Given the description of an element on the screen output the (x, y) to click on. 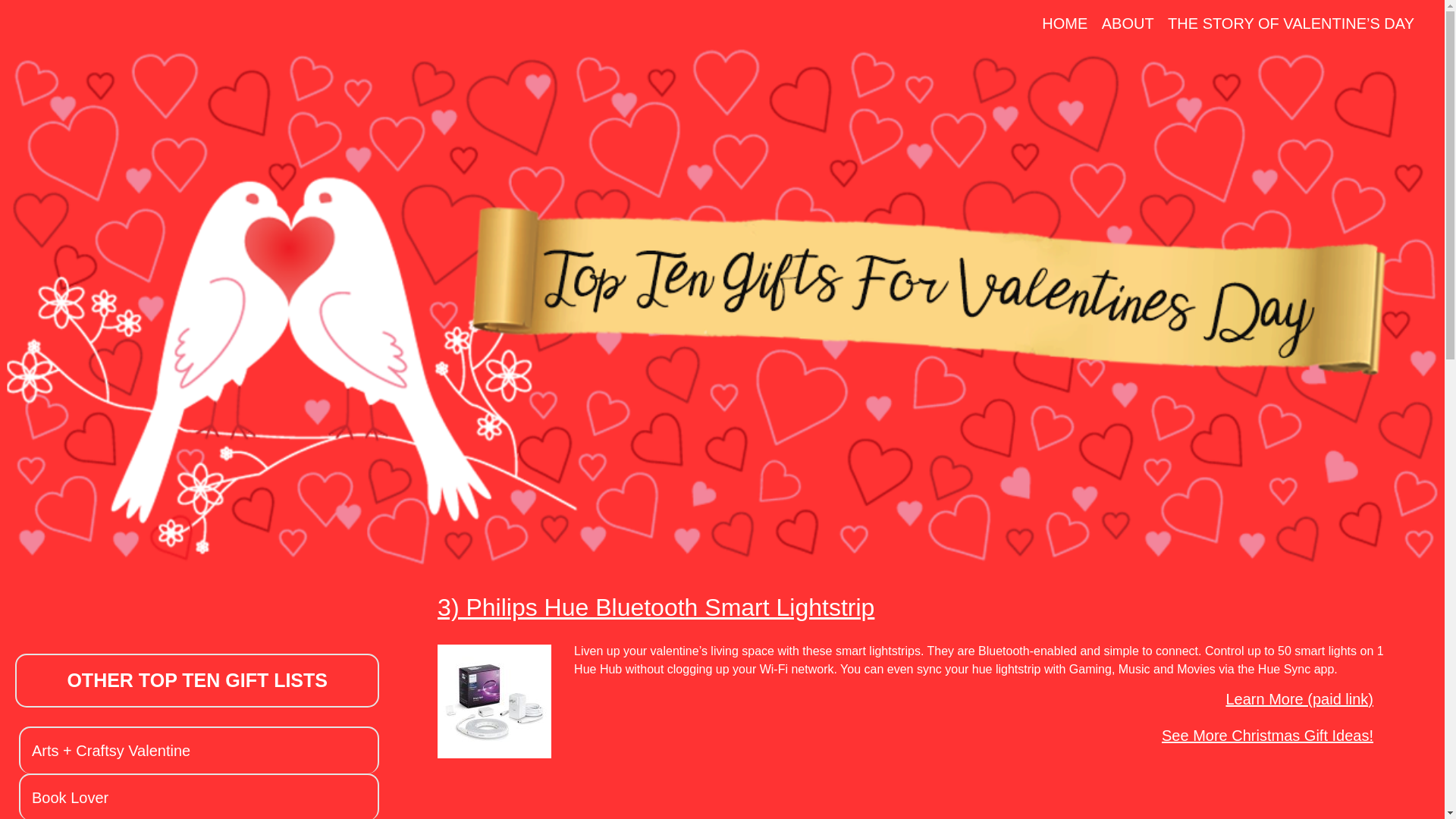
See More Christmas Gift Ideas! (1295, 734)
HOME (1064, 23)
ABOUT (1128, 23)
Book Lover (69, 797)
